Given the description of an element on the screen output the (x, y) to click on. 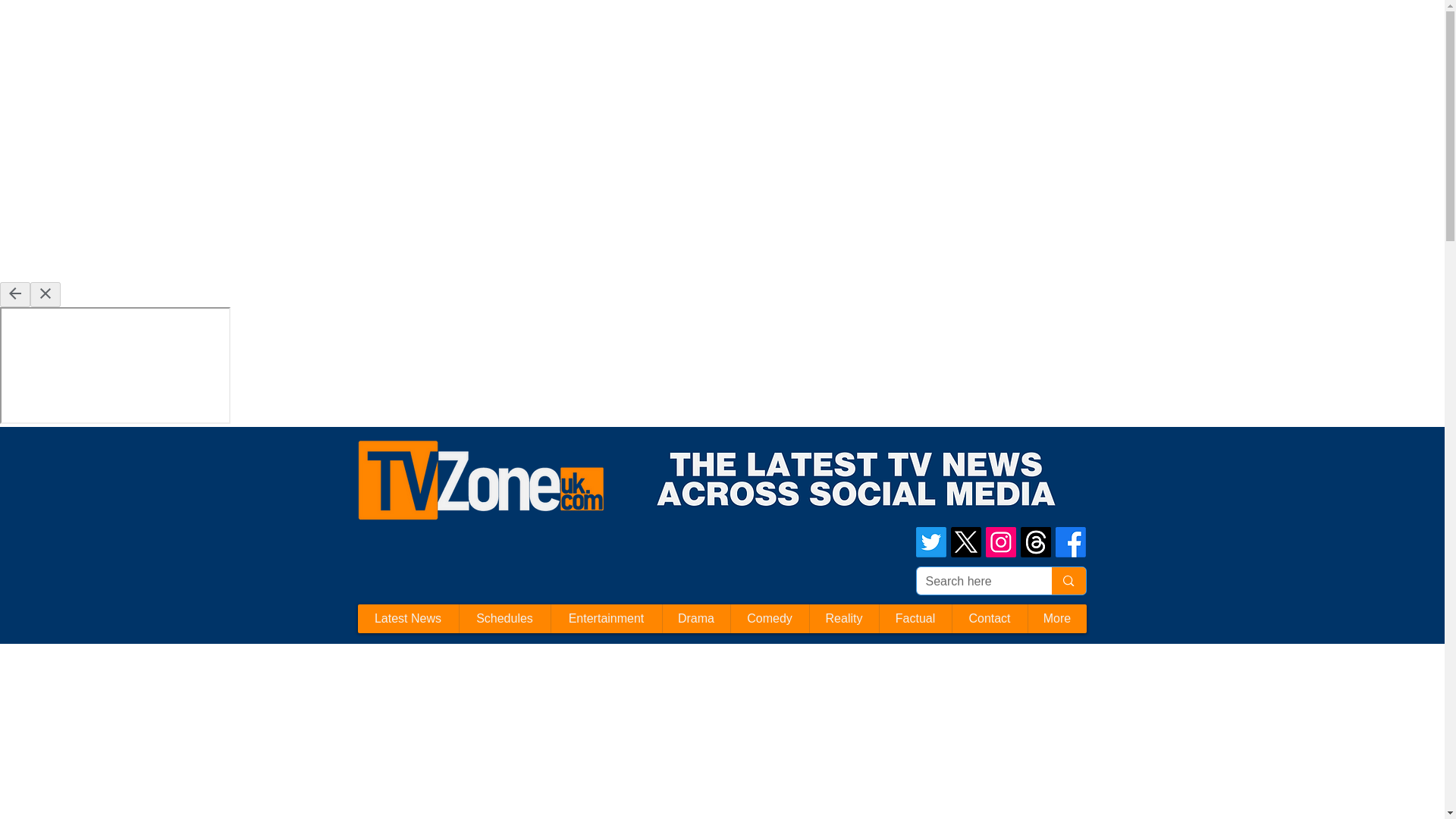
Comedy (768, 618)
Reality (842, 618)
Schedules (504, 618)
Entertainment (606, 618)
Drama (695, 618)
Advertisement (275, 33)
Factual (913, 618)
Contact (988, 618)
Latest News (408, 618)
